Given the description of an element on the screen output the (x, y) to click on. 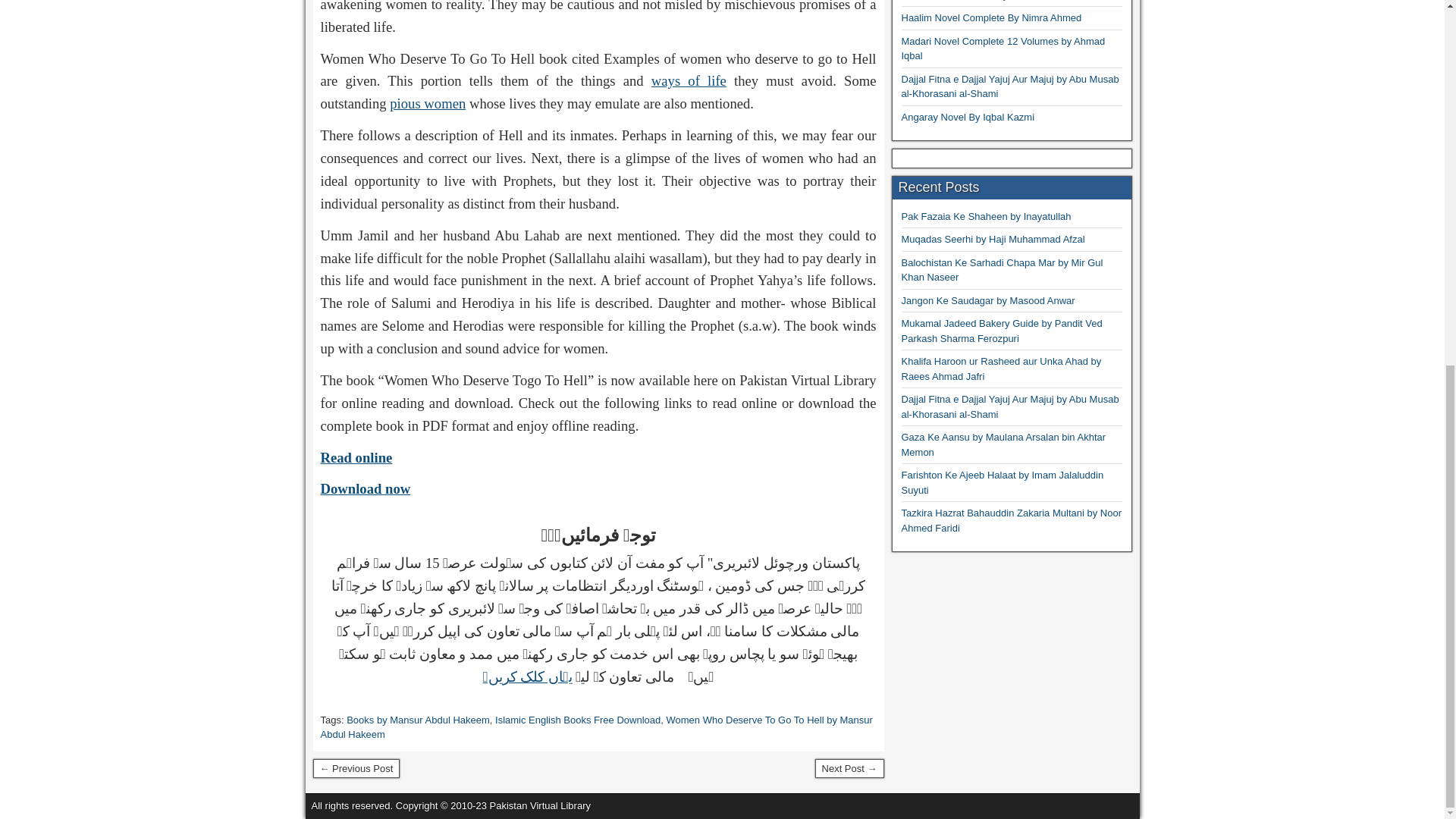
Aatish o Ahan Novel By Aslam Rahi M.A (355, 768)
Achoot Novel By Aslam Rahi M.A (849, 768)
